Given the description of an element on the screen output the (x, y) to click on. 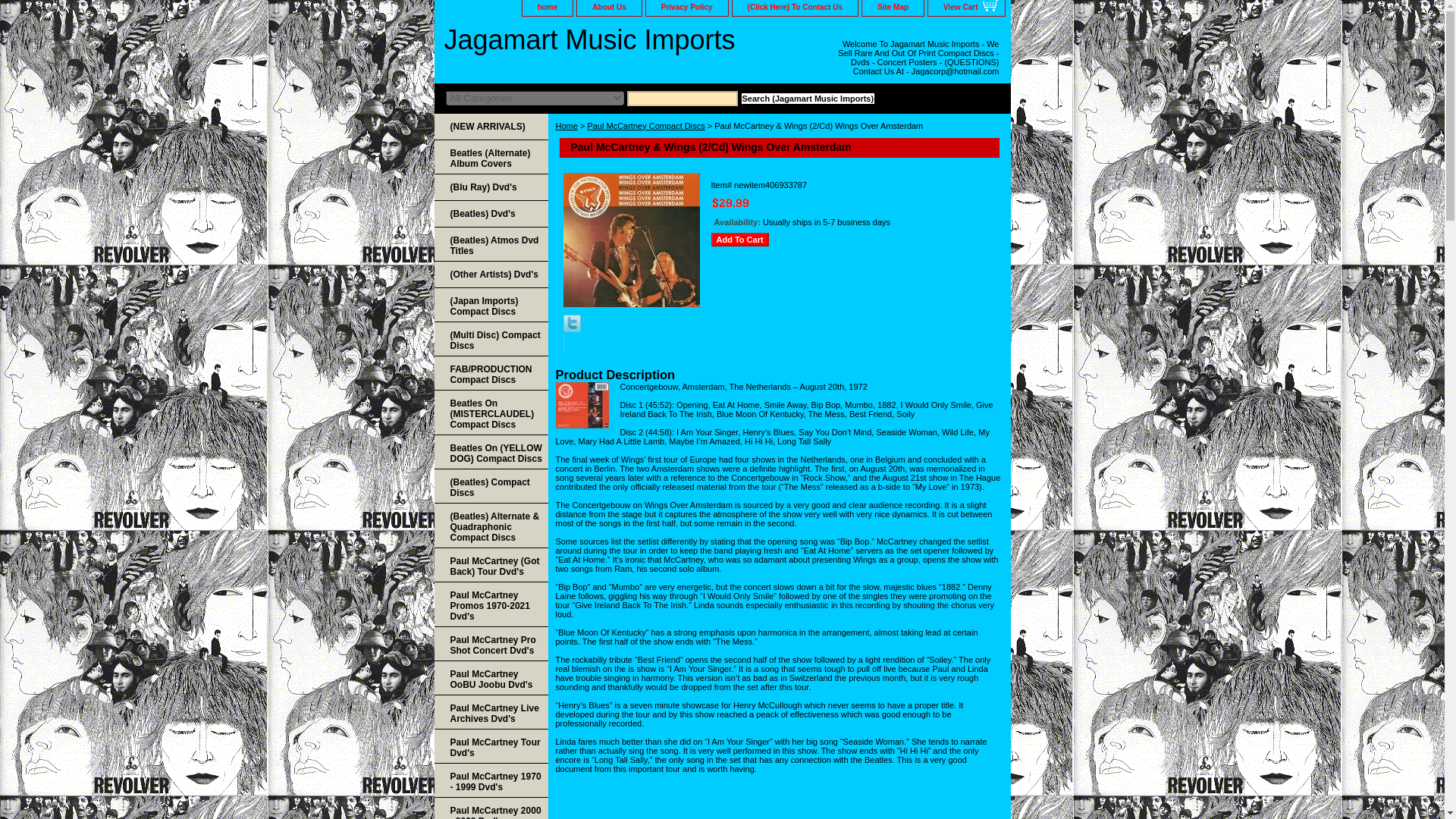
home (547, 7)
Add To Cart (739, 239)
Privacy Policy (687, 7)
Add To Cart (739, 239)
Home (565, 125)
Add To Cart (739, 239)
Paul McCartney Live Archives Dvd's (490, 712)
View Cart (966, 7)
Paul McCartney 2000 - 2008 Dvd's (490, 808)
Paul McCartney 1970 - 1999 Dvd's (490, 780)
